Given the description of an element on the screen output the (x, y) to click on. 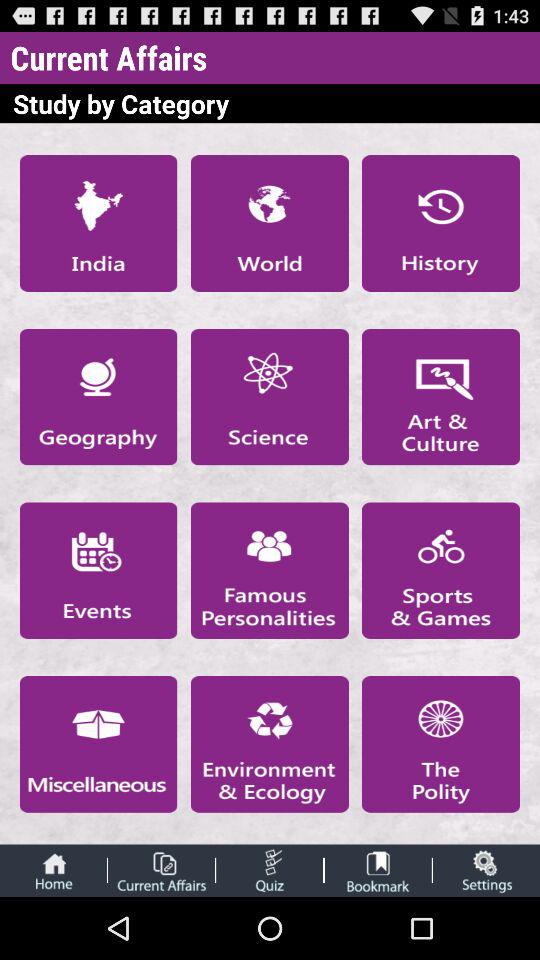
study about miscellaneous current affairs (98, 744)
